Given the description of an element on the screen output the (x, y) to click on. 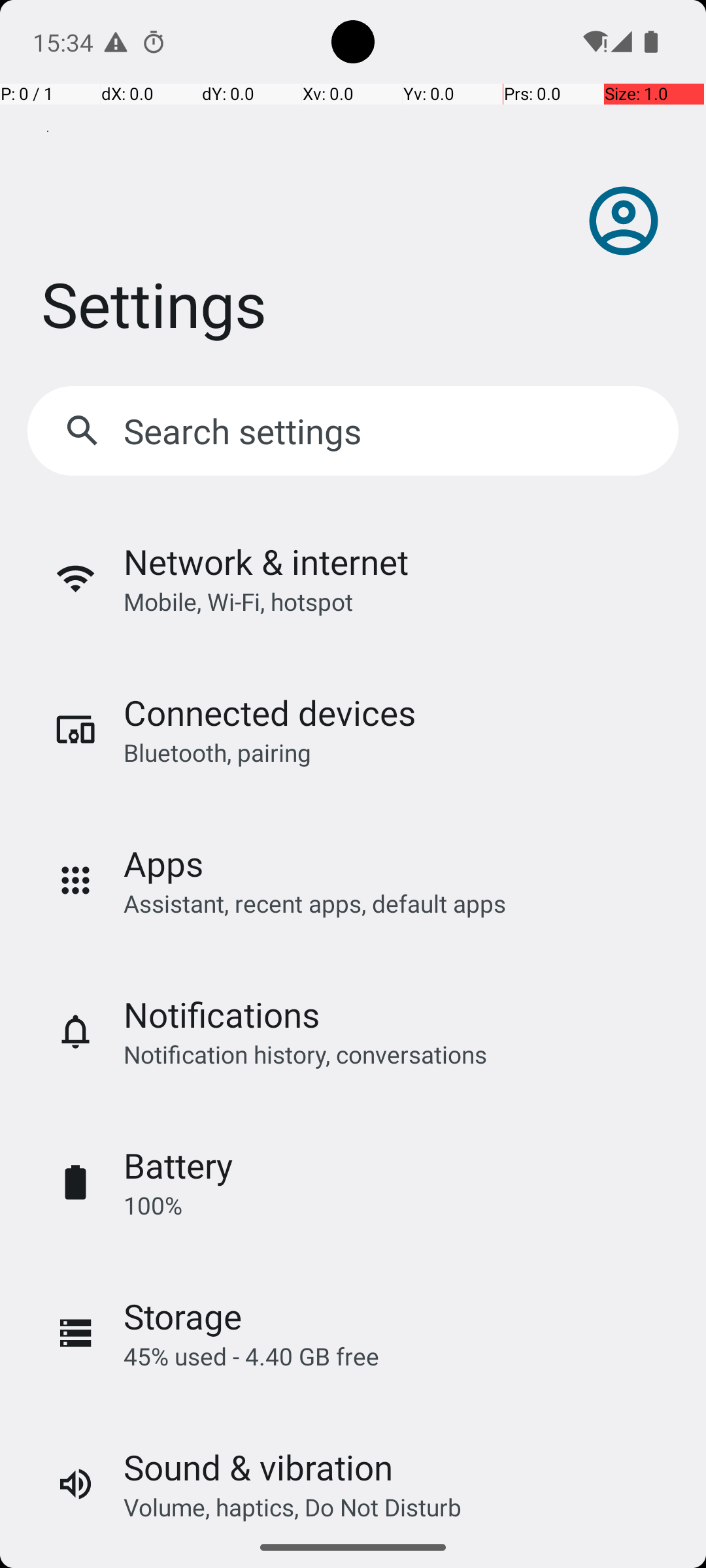
Profile picture, double tap to open Google Account Element type: android.widget.ImageView (623, 220)
Search settings Element type: android.widget.TextView (245, 430)
Network & internet Element type: android.widget.TextView (265, 561)
Mobile, Wi‑Fi, hotspot Element type: android.widget.TextView (238, 601)
Connected devices Element type: android.widget.TextView (269, 712)
Bluetooth, pairing Element type: android.widget.TextView (217, 751)
Apps Element type: android.widget.TextView (163, 863)
Assistant, recent apps, default apps Element type: android.widget.TextView (314, 902)
Notification history, conversations Element type: android.widget.TextView (305, 1053)
Battery Element type: android.widget.TextView (178, 1165)
100% Element type: android.widget.TextView (152, 1204)
Storage Element type: android.widget.TextView (182, 1315)
45% used - 4.40 GB free Element type: android.widget.TextView (251, 1355)
Sound & vibration Element type: android.widget.TextView (257, 1466)
Volume, haptics, Do Not Disturb Element type: android.widget.TextView (292, 1506)
Android System notification:  Element type: android.widget.ImageView (115, 41)
